Given the description of an element on the screen output the (x, y) to click on. 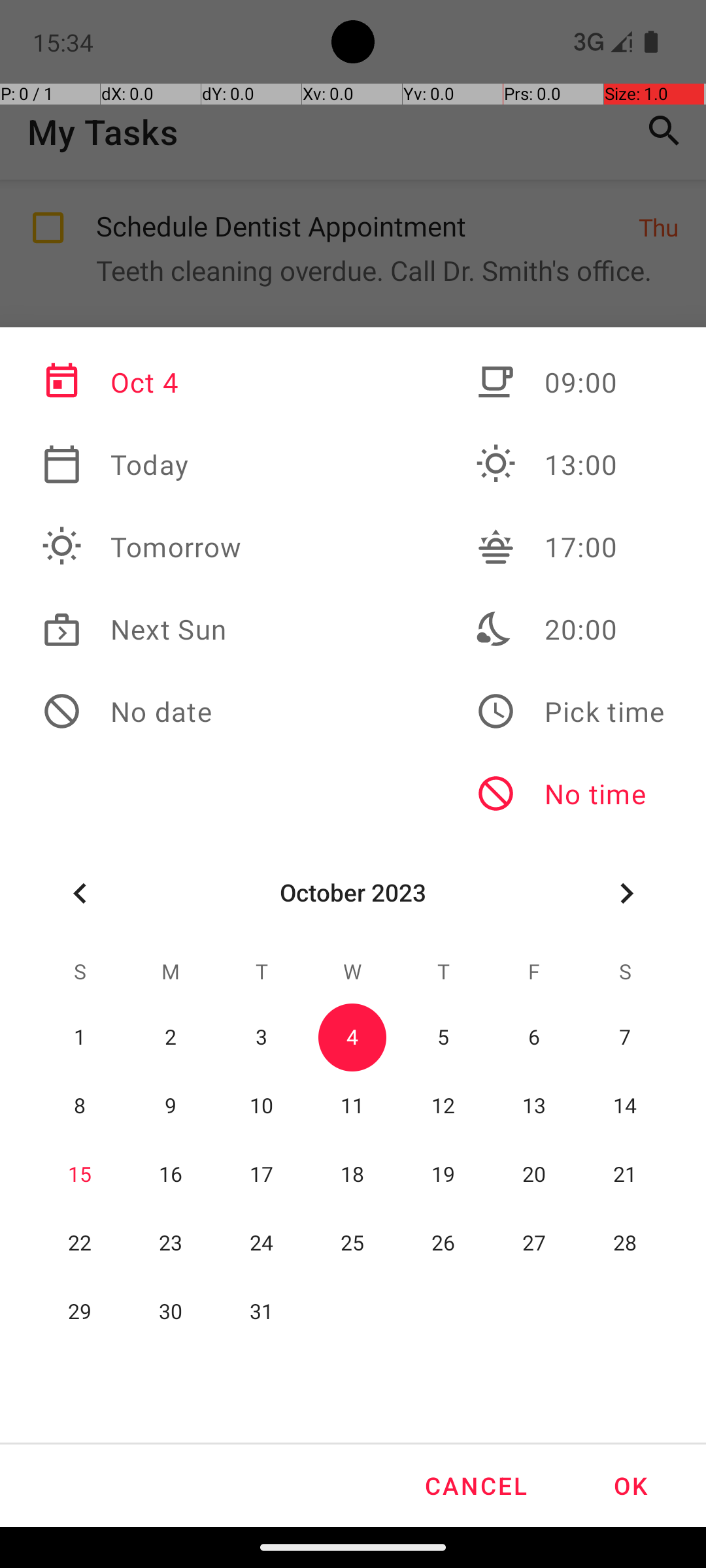
Oct 4 Element type: android.widget.CompoundButton (141, 382)
